Given the description of an element on the screen output the (x, y) to click on. 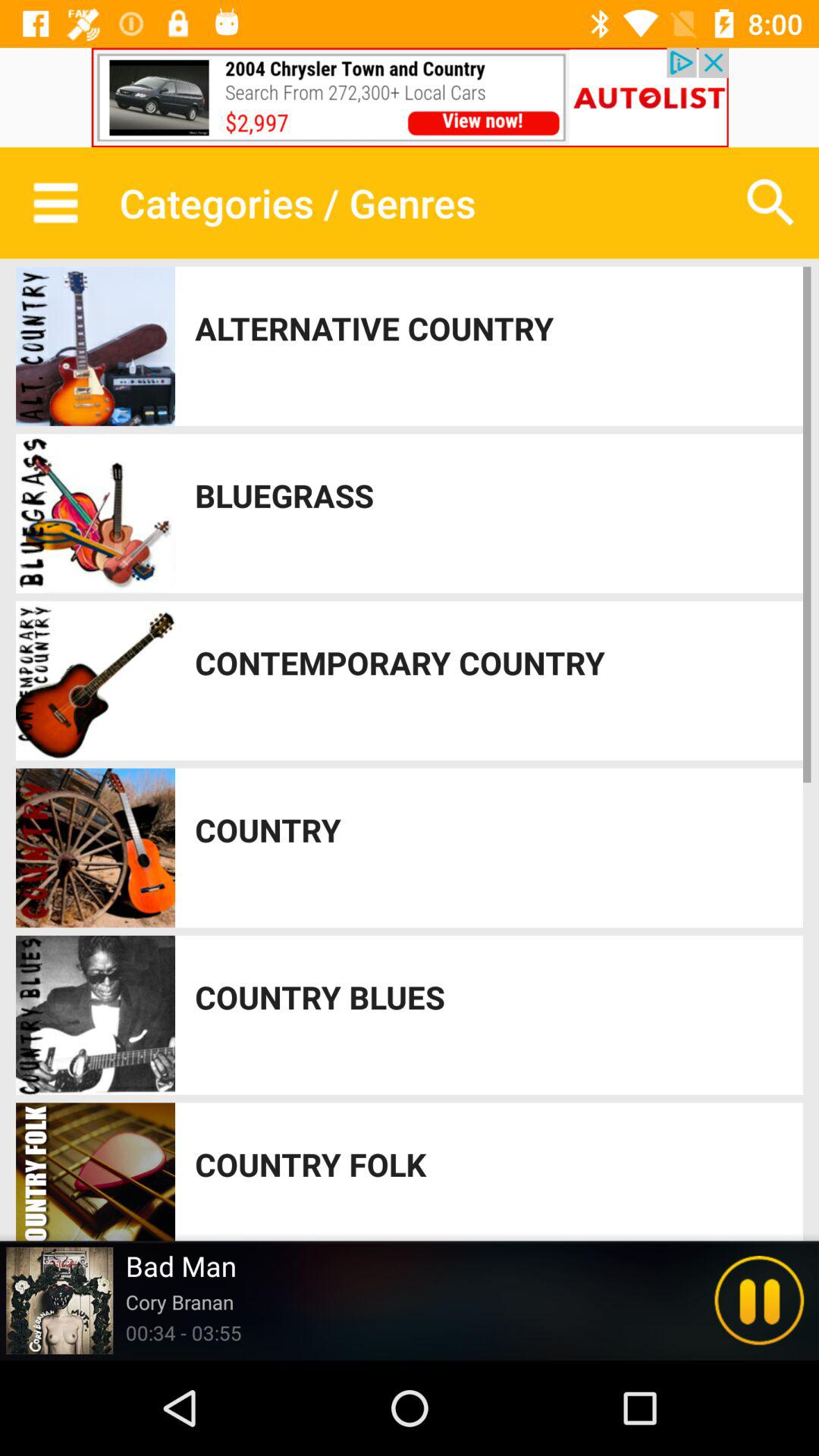
open advertisement (409, 97)
